Given the description of an element on the screen output the (x, y) to click on. 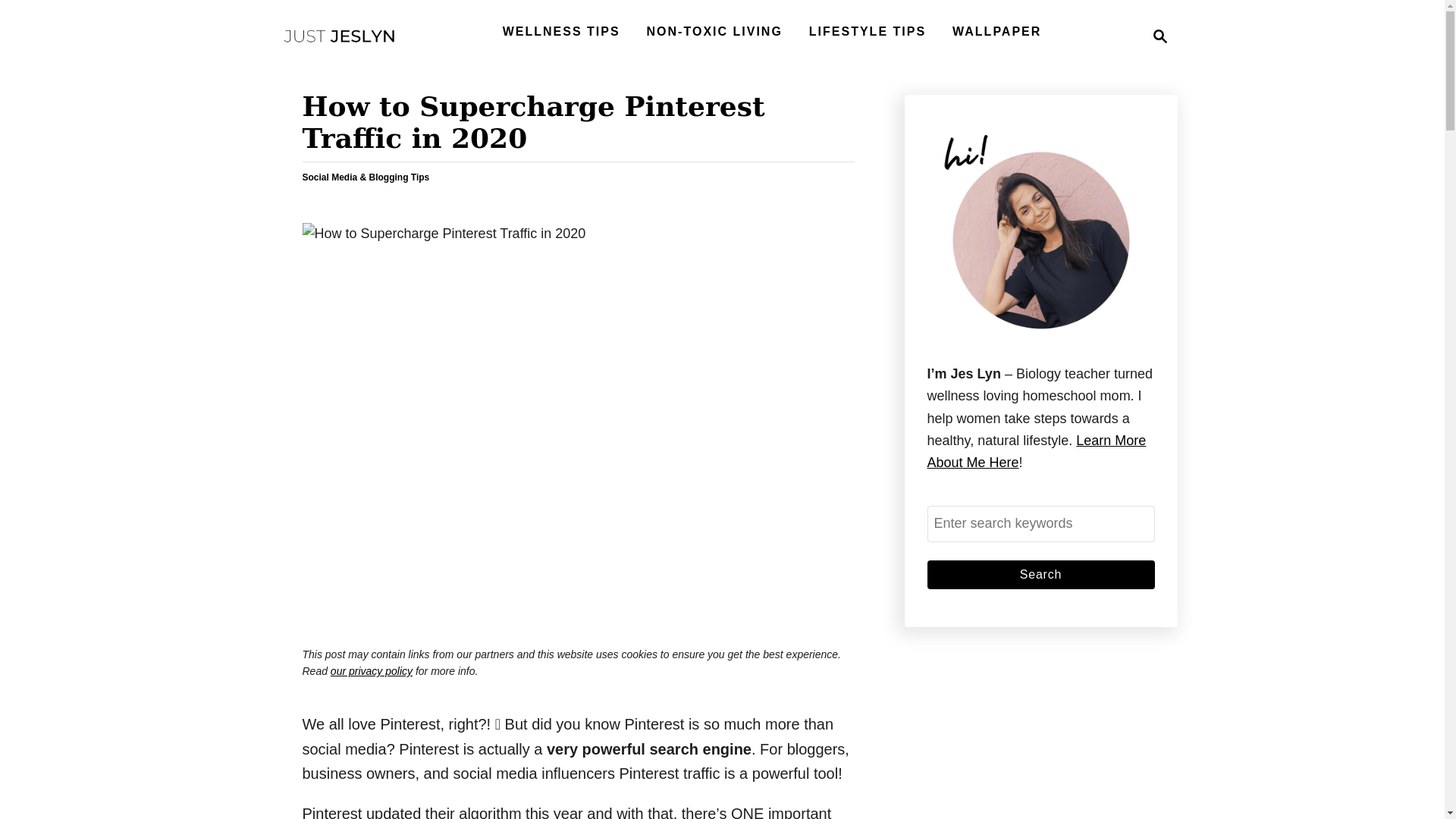
WELLNESS TIPS (561, 31)
Just Jes Lyn (1155, 36)
Learn More About Me Here (339, 35)
Search (1035, 451)
Search (1040, 573)
our privacy policy (1040, 573)
LIFESTYLE TIPS (371, 671)
WALLPAPER (867, 31)
Magnifying Glass (996, 31)
